Given the description of an element on the screen output the (x, y) to click on. 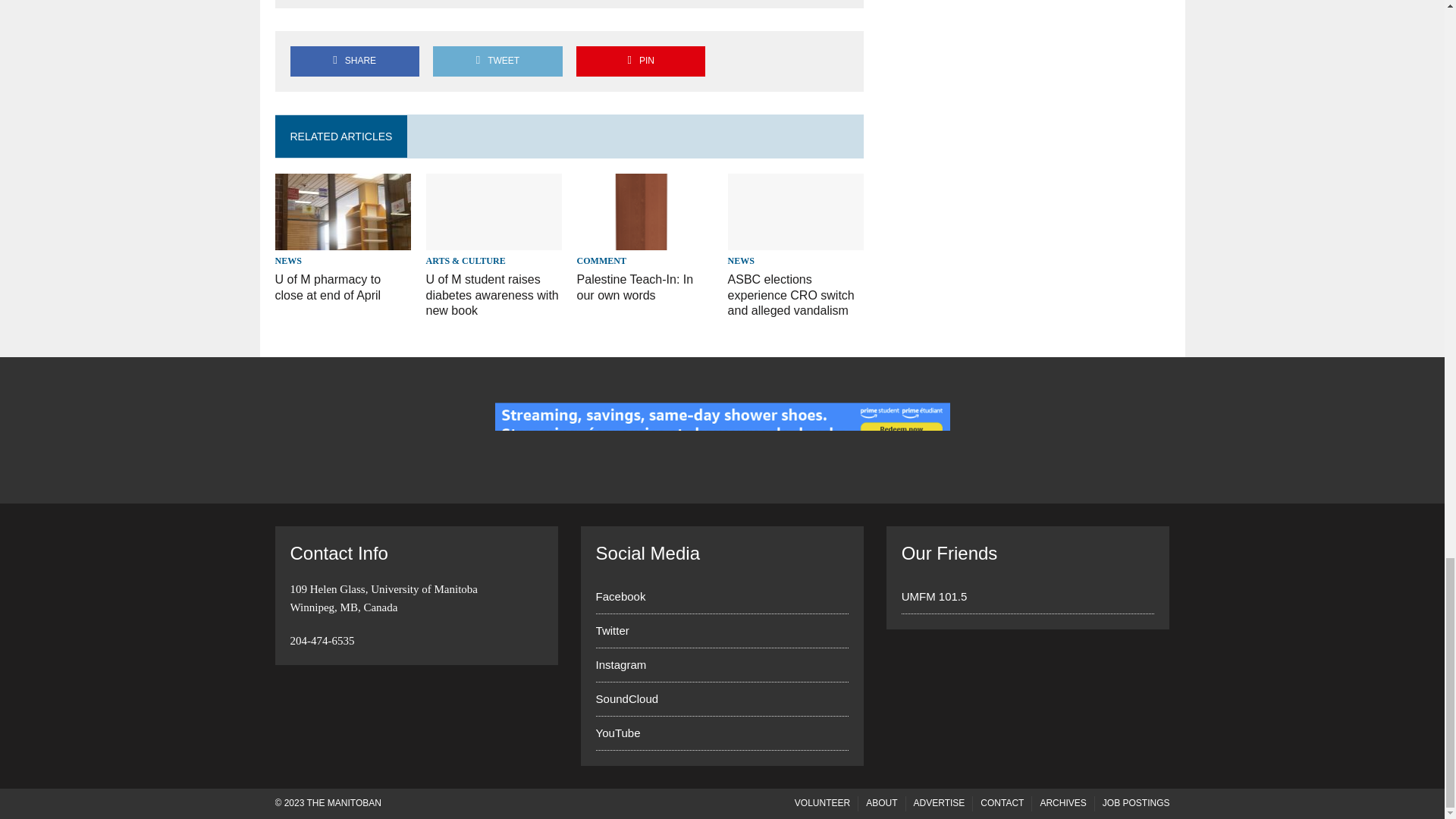
Palestine Teach-In: In our own words (635, 287)
U of M pharmacy to close at end of April (327, 287)
U of M student raises diabetes awareness with new book (494, 239)
Palestine Teach-In: In our own words (644, 239)
ASBC elections experience  CRO switch and alleged vandalism (791, 294)
U of M pharmacy to close at end of April (342, 239)
U of M student raises diabetes awareness with new book (492, 294)
Share on Facebook (354, 60)
Tweet This Post (497, 60)
Pin This Post (640, 60)
